Given the description of an element on the screen output the (x, y) to click on. 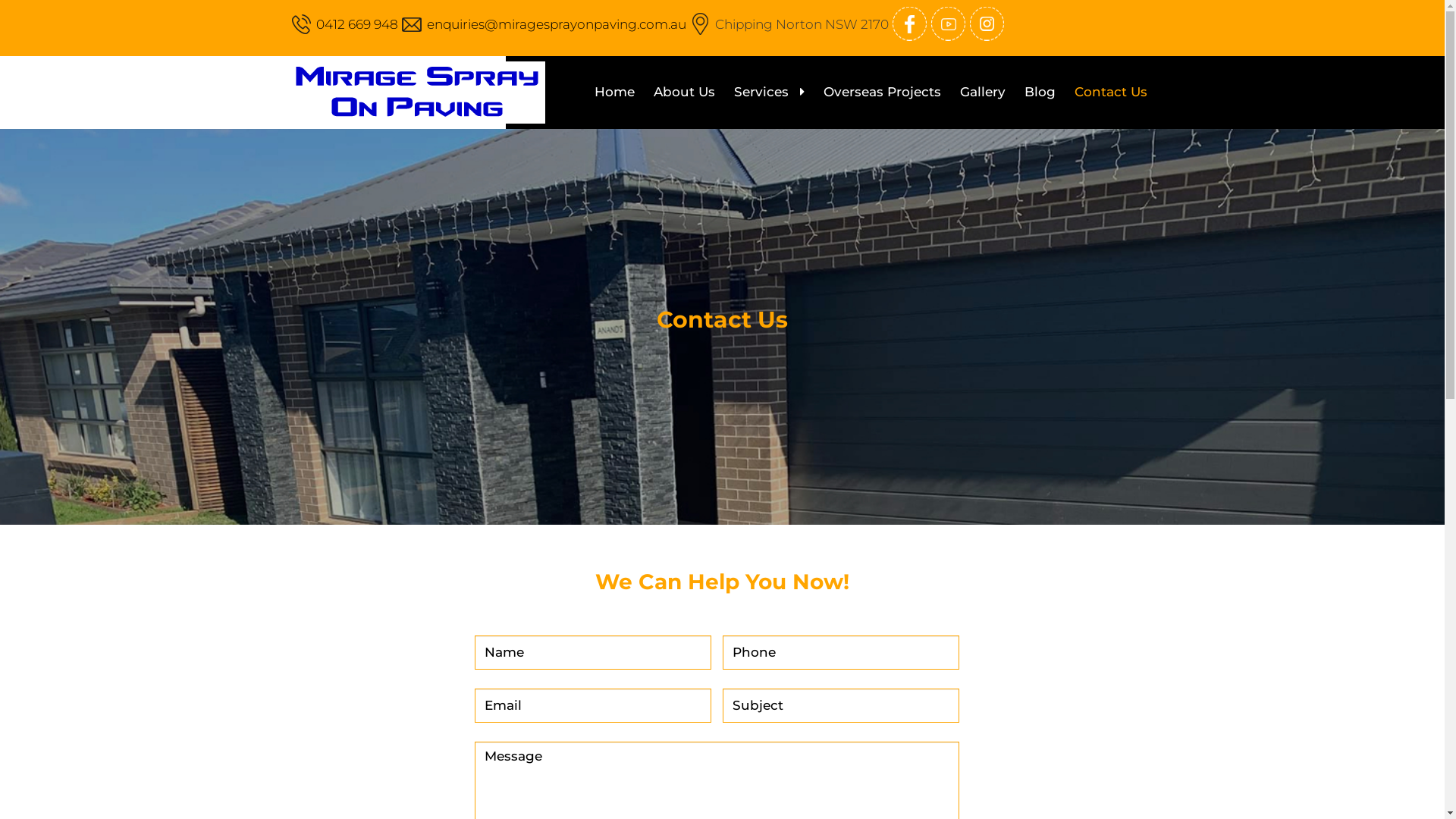
0412 669 948 Element type: text (356, 23)
Services Element type: text (769, 91)
Gallery Element type: text (982, 91)
About Us Element type: text (684, 91)
Contact Us Element type: text (1110, 91)
Overseas Projects Element type: text (881, 91)
Home Element type: text (614, 91)
Blog Element type: text (1039, 91)
enquiries@miragesprayonpaving.com.au Element type: text (555, 23)
